Given the description of an element on the screen output the (x, y) to click on. 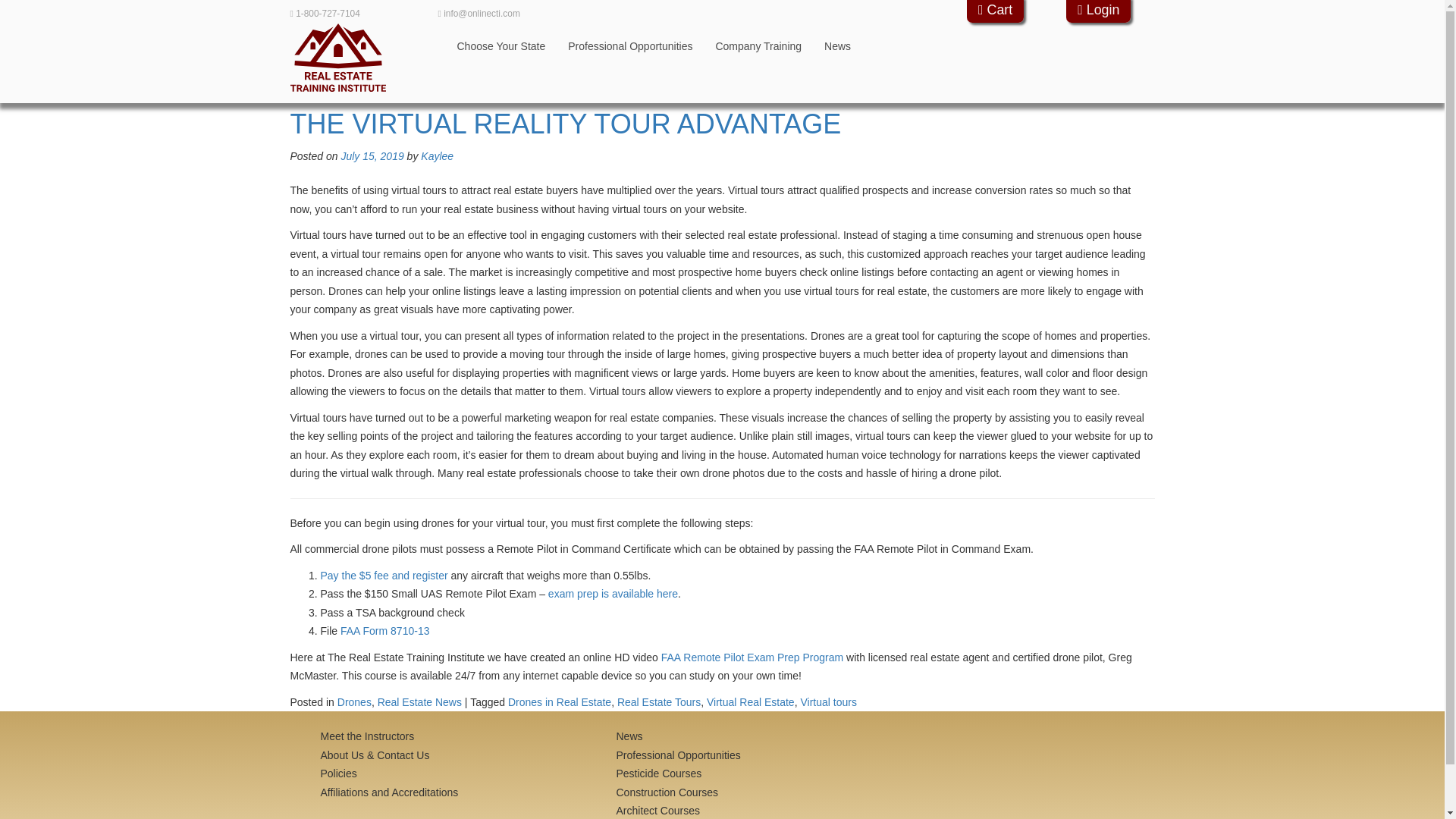
2:20 pm (371, 155)
Permalink to THE VIRTUAL REALITY TOUR ADVANTAGE (565, 123)
Login (1098, 11)
View all posts by Kaylee (436, 155)
Cart (994, 11)
Choose Your State (501, 46)
